Given the description of an element on the screen output the (x, y) to click on. 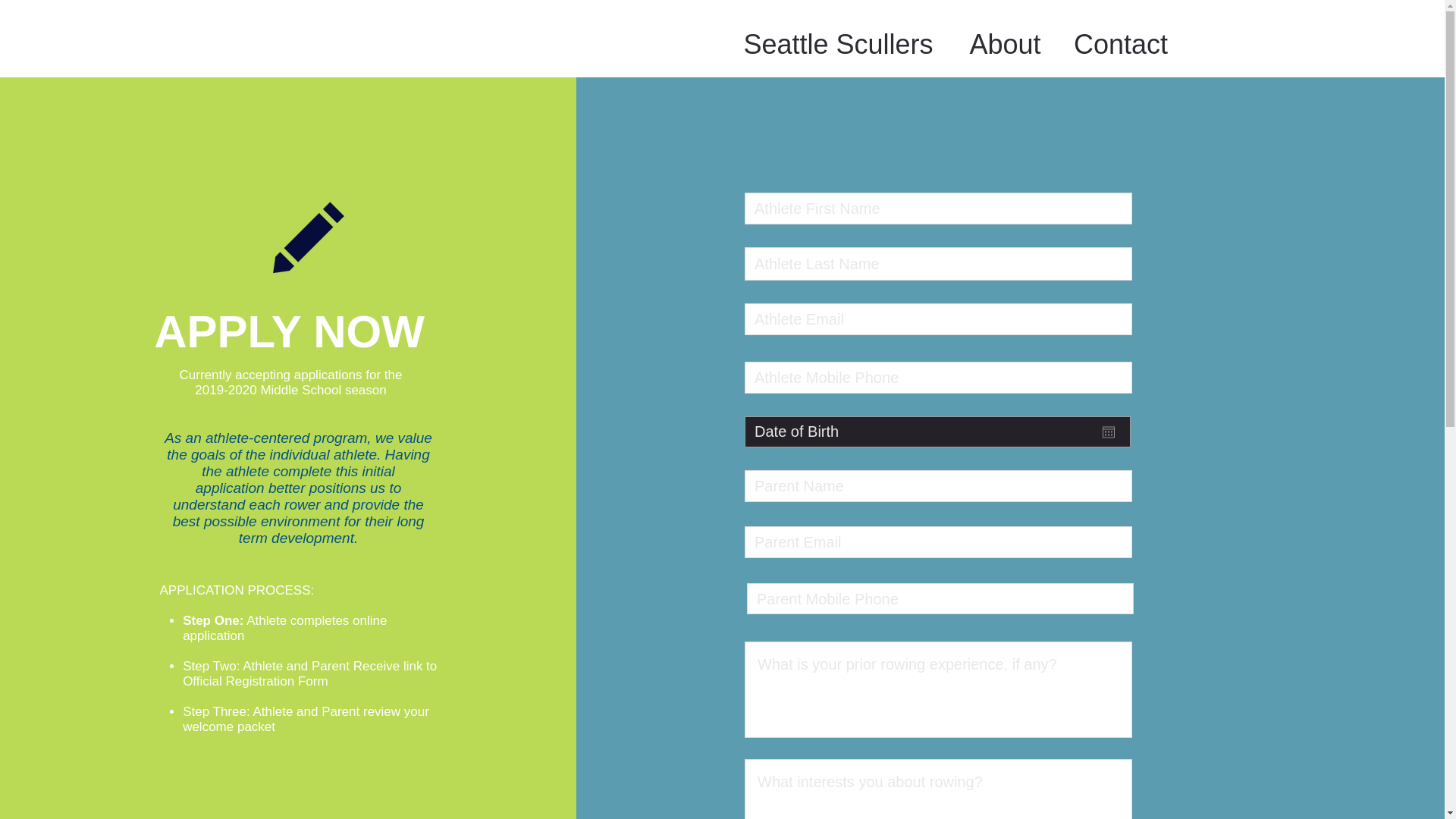
About (1005, 40)
Seattle Scullers (837, 40)
Contact (1121, 40)
